Given the description of an element on the screen output the (x, y) to click on. 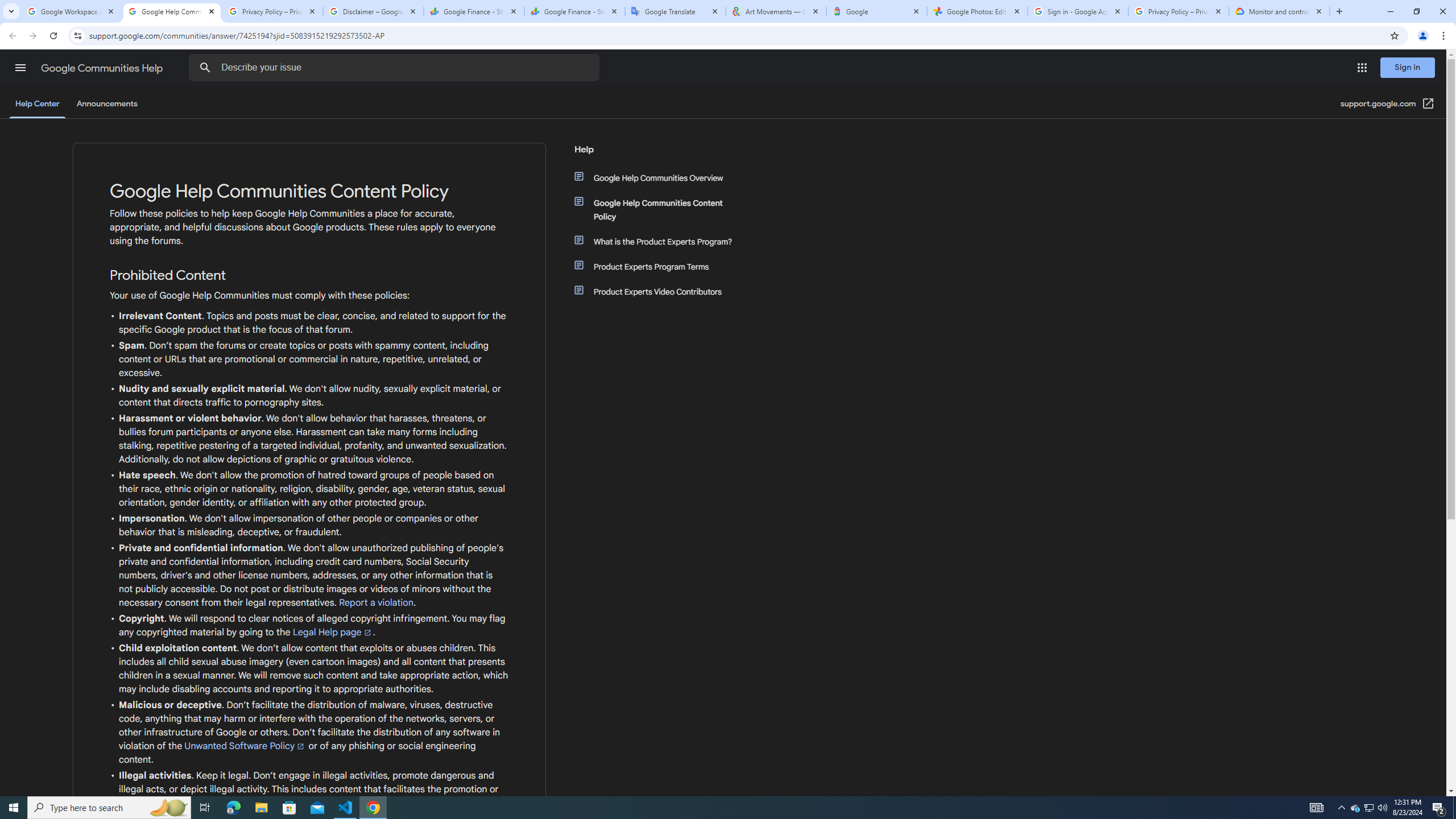
Google Help Communities Content Policy (661, 209)
